Given the description of an element on the screen output the (x, y) to click on. 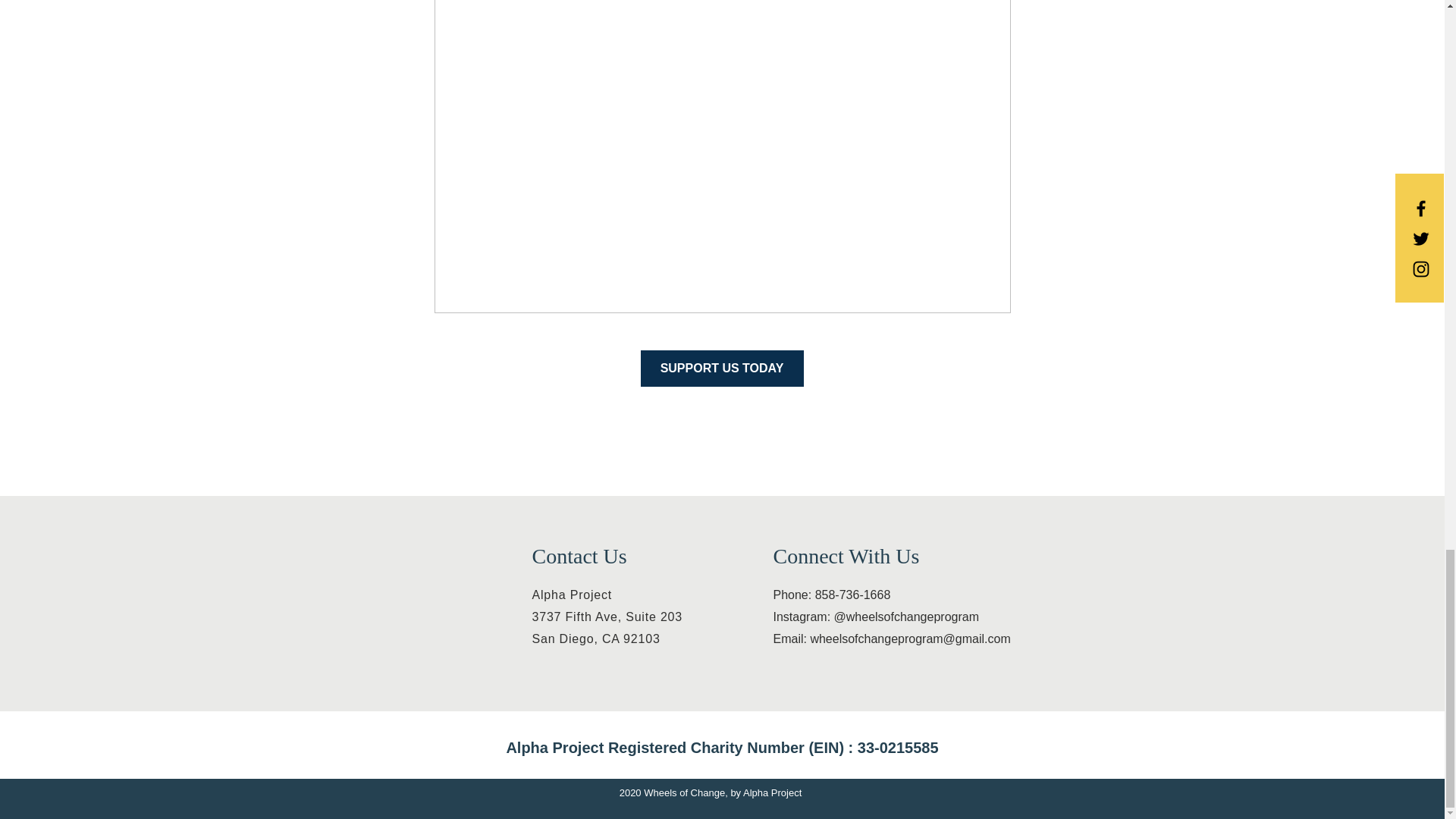
SUPPORT US TODAY (607, 627)
Phone: 858-736-1668 (721, 368)
Alpha Project (832, 594)
